Given the description of an element on the screen output the (x, y) to click on. 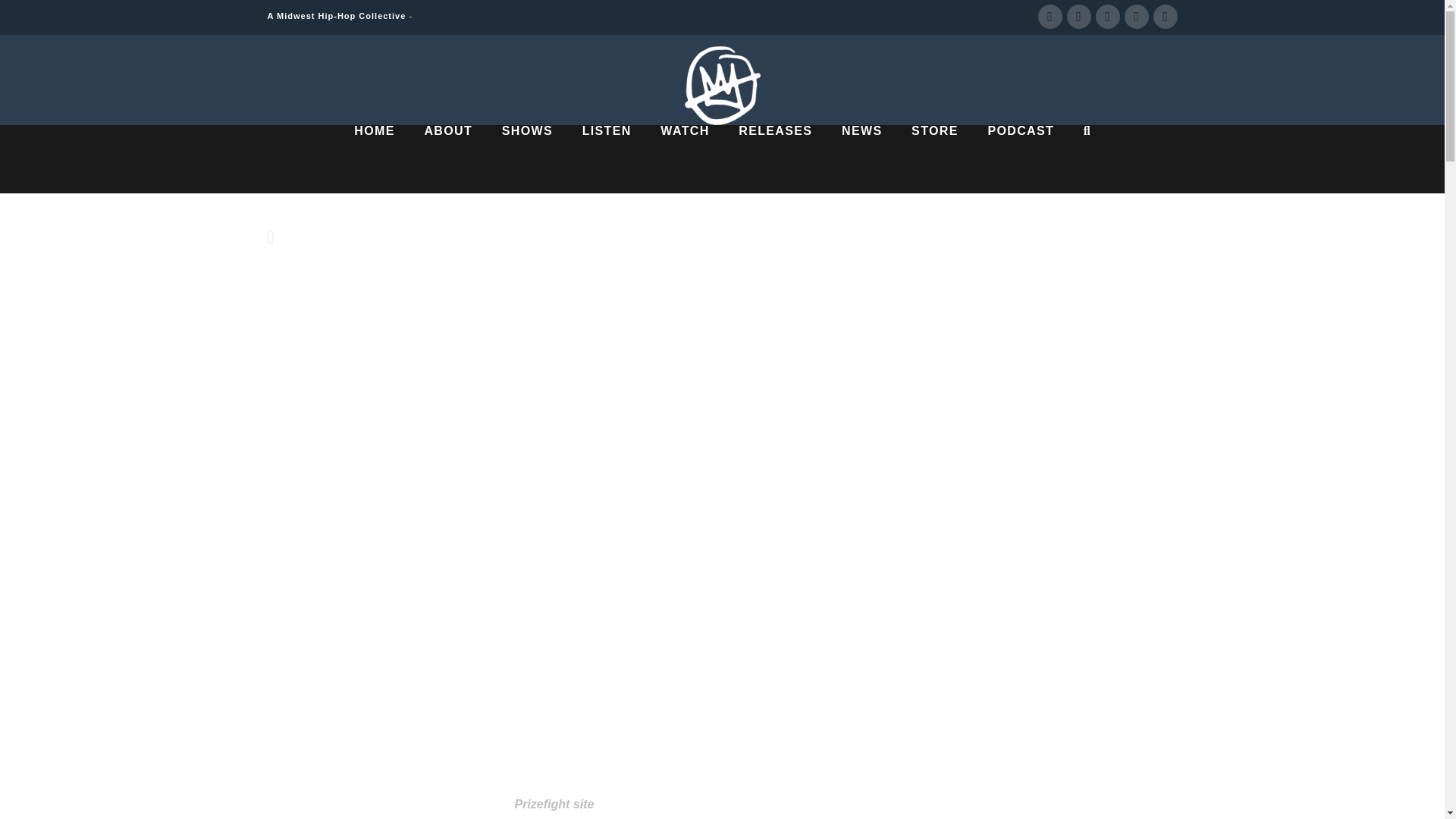
SHOWS (526, 159)
Twitter (1077, 16)
Instagram (1136, 16)
STORE (934, 159)
YouTube (1106, 16)
SoundCloud (1164, 16)
PODCAST (1019, 159)
Facebook (1048, 16)
Prizefight site (553, 803)
LISTEN (606, 159)
WATCH (684, 159)
HOME (374, 159)
ABOUT (447, 159)
NEWS (861, 159)
RELEASES (775, 159)
